Given the description of an element on the screen output the (x, y) to click on. 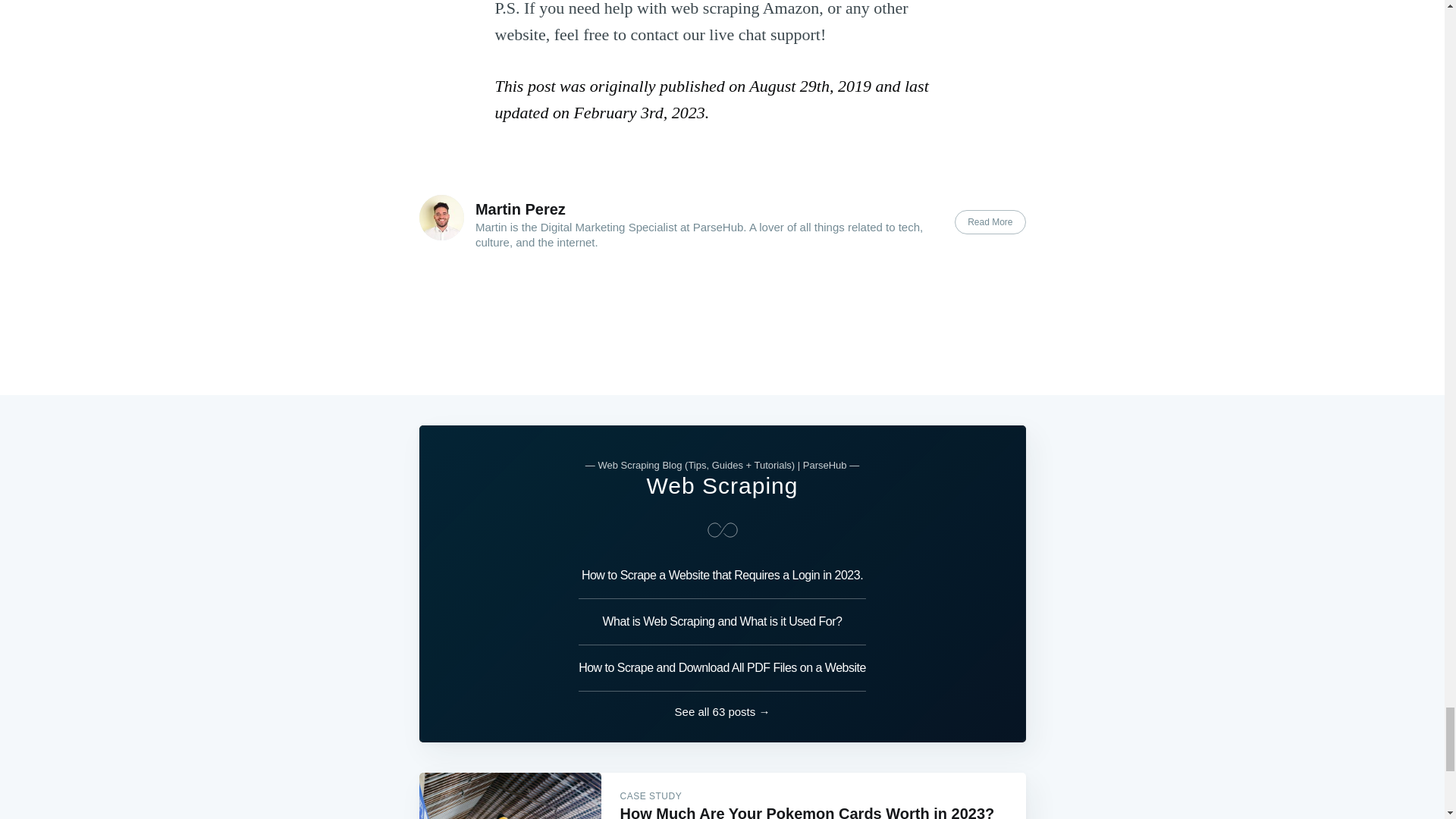
Read More (990, 221)
Martin Perez (521, 208)
How to Scrape and Download All PDF Files on a Website (722, 668)
How to Scrape a Website that Requires a Login in 2023. (722, 579)
What is Web Scraping and What is it Used For? (722, 621)
Web Scraping (721, 485)
